Given the description of an element on the screen output the (x, y) to click on. 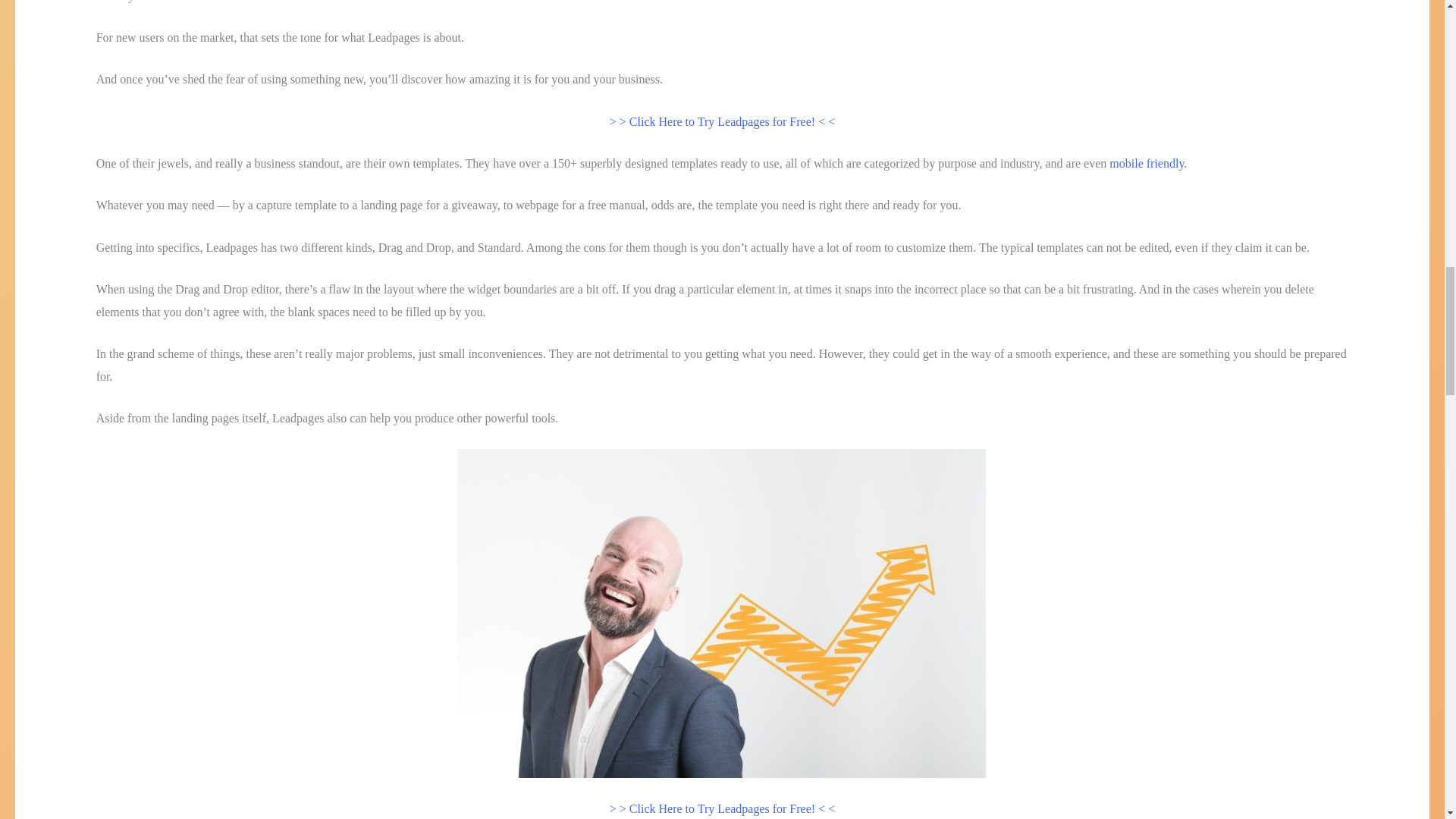
mobile friendly (1146, 163)
